Given the description of an element on the screen output the (x, y) to click on. 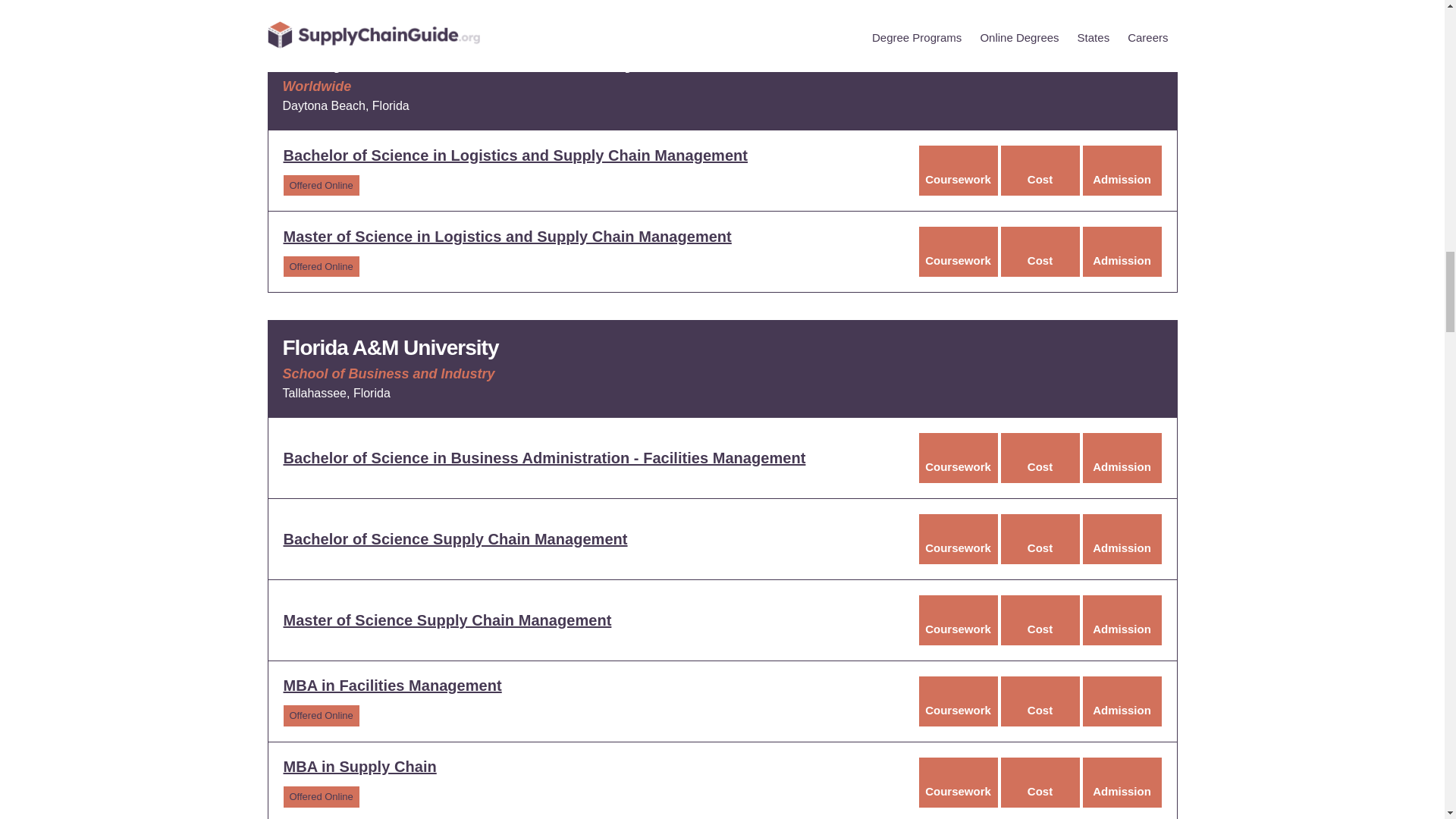
program curriculum (957, 251)
program cost (1040, 170)
Click here to visit the program home page (515, 155)
program admissions (1122, 251)
Click here to visit the program home page (507, 236)
program curriculum (957, 170)
program admissions (1122, 170)
program cost (1040, 251)
